Given the description of an element on the screen output the (x, y) to click on. 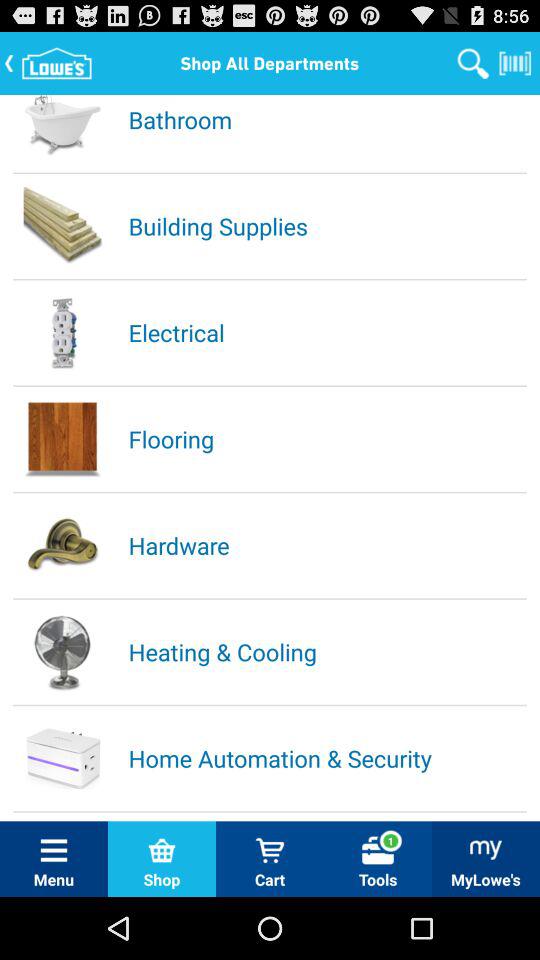
tap electrical (326, 332)
